Given the description of an element on the screen output the (x, y) to click on. 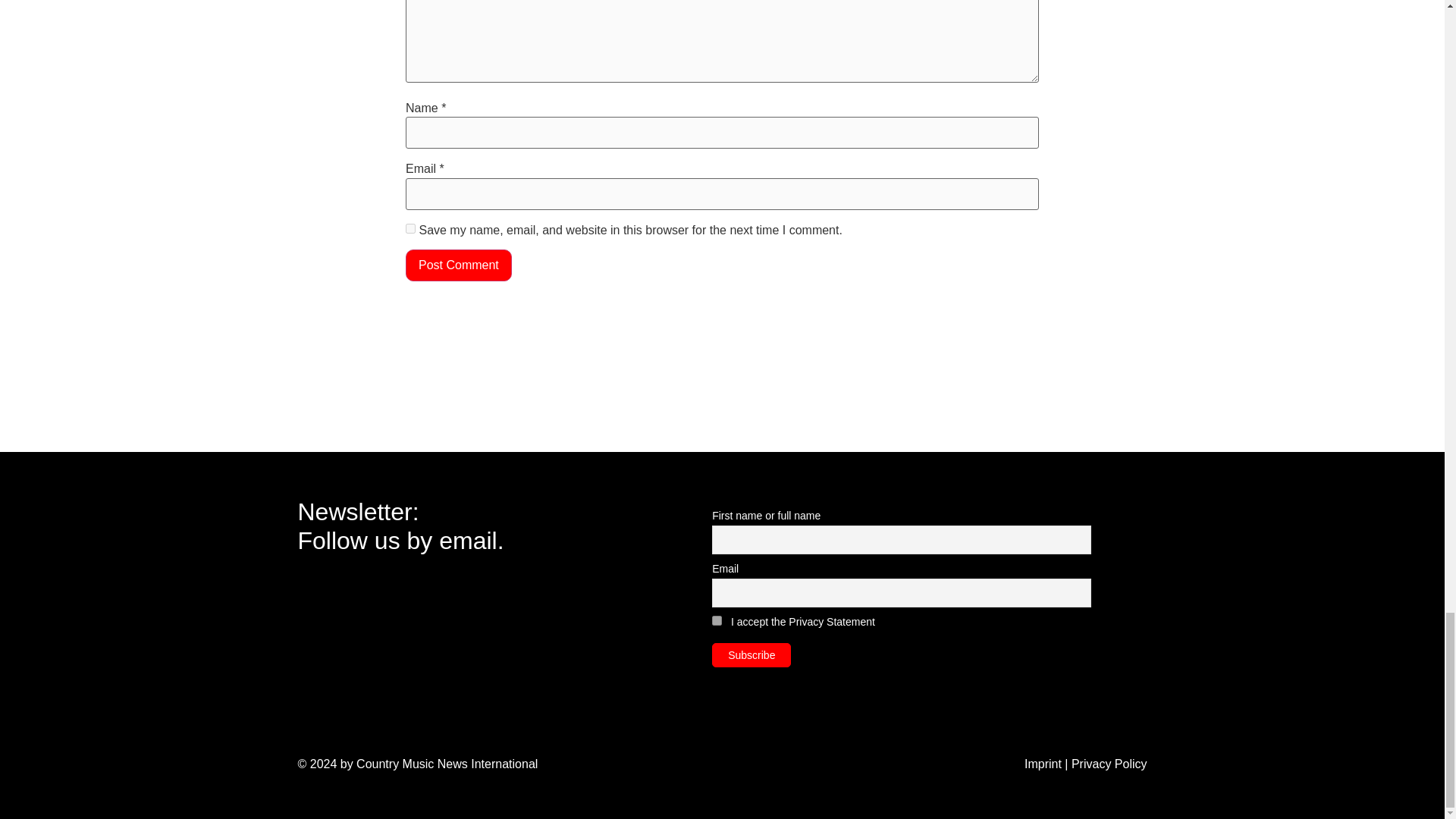
Subscribe (750, 654)
on (716, 620)
Post Comment (459, 265)
Subscribe (750, 654)
Post Comment (459, 265)
Privacy Policy (1109, 763)
yes (410, 228)
Imprint (1043, 763)
I accept the Privacy Statement (802, 621)
